Given the description of an element on the screen output the (x, y) to click on. 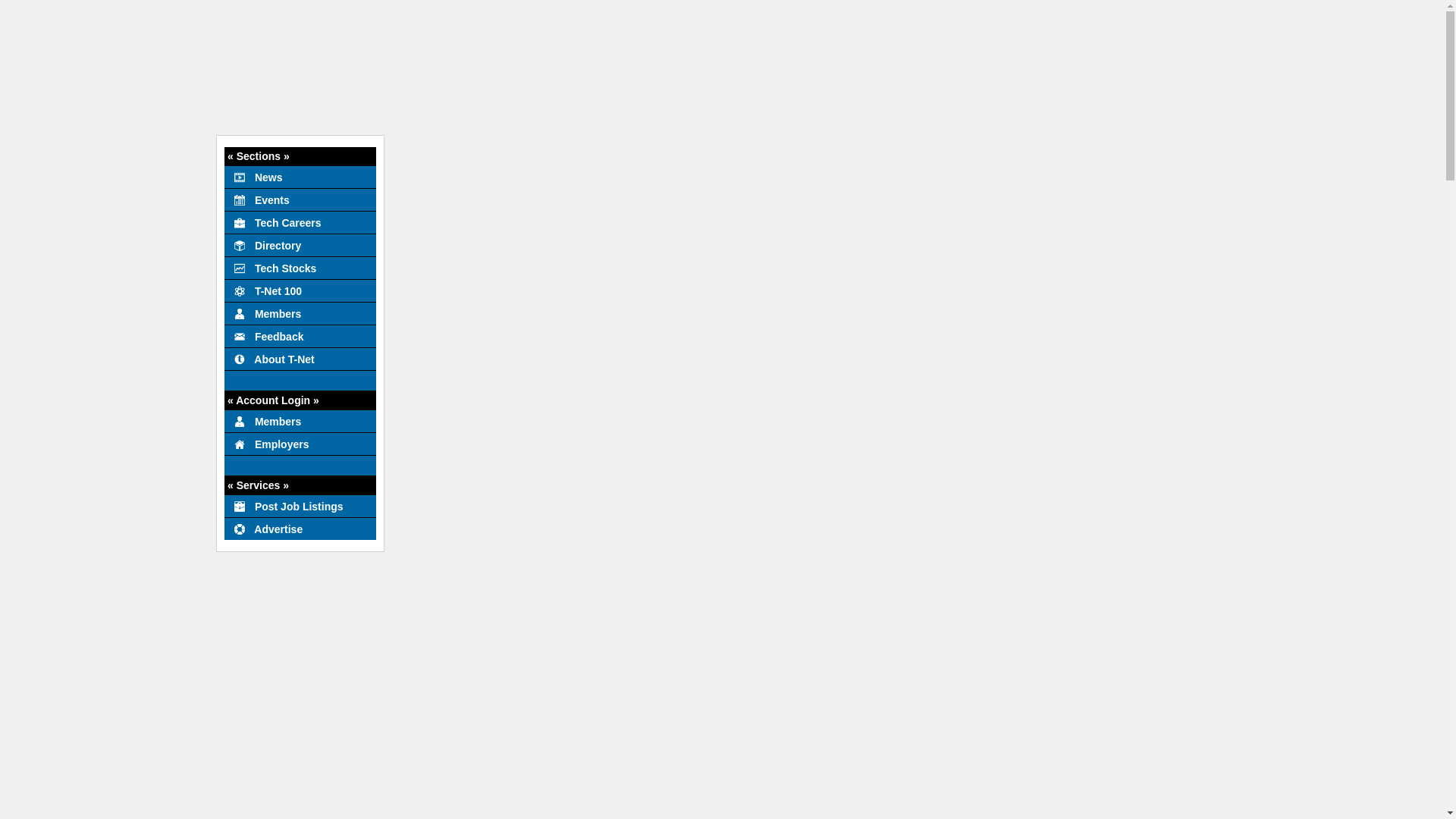
Post Job Listings (299, 505)
About T-Net (299, 358)
Feedback (299, 335)
T-Net 100 (299, 290)
New Search (917, 153)
Advertise (299, 527)
News (299, 176)
Employers (299, 443)
Members (299, 420)
Directory (299, 244)
